Given the description of an element on the screen output the (x, y) to click on. 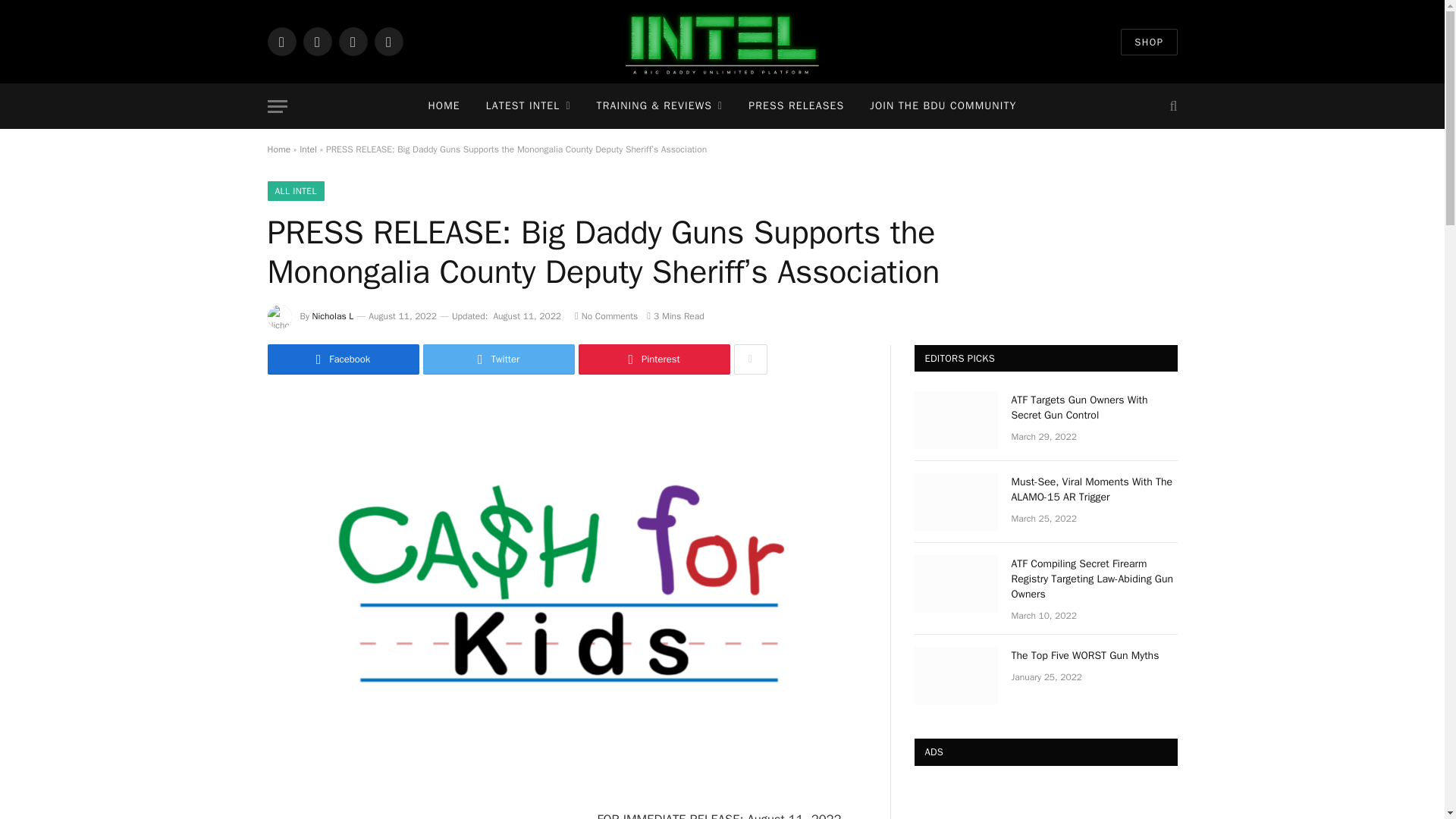
LATEST INTEL (528, 105)
Share on Facebook (342, 358)
Intel.BDU (722, 41)
SHOP (1148, 41)
Posts by Nicholas L (333, 316)
PRESS RELEASES (796, 105)
Facebook (280, 41)
Share on Pinterest (653, 358)
JOIN THE BDU COMMUNITY (943, 105)
YouTube (388, 41)
Intel (308, 149)
Twitter (316, 41)
ALL INTEL (294, 190)
HOME (442, 105)
Share on Twitter (499, 358)
